Given the description of an element on the screen output the (x, y) to click on. 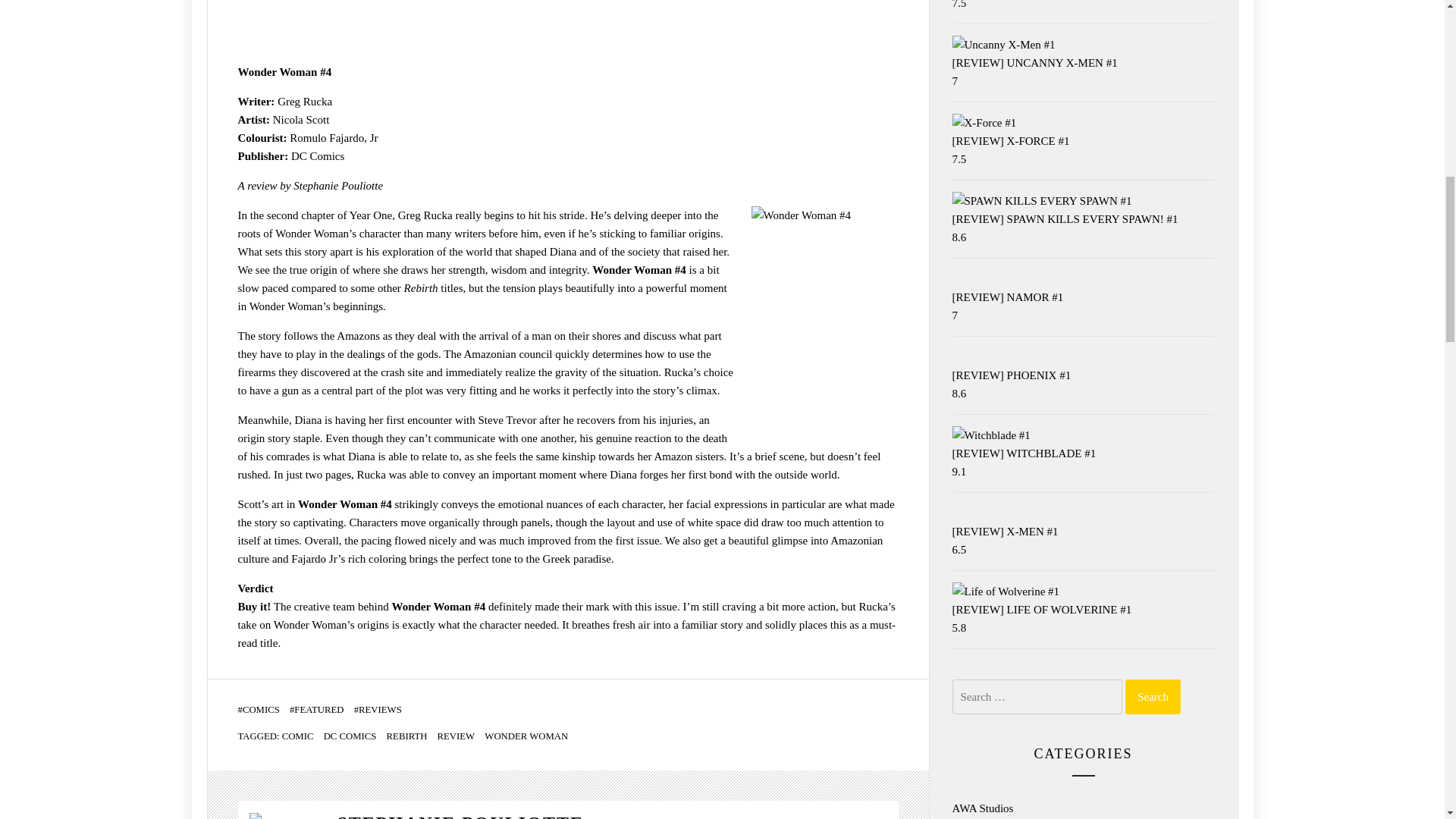
COMICS (264, 709)
Search (1152, 696)
Search (1152, 696)
